Given the description of an element on the screen output the (x, y) to click on. 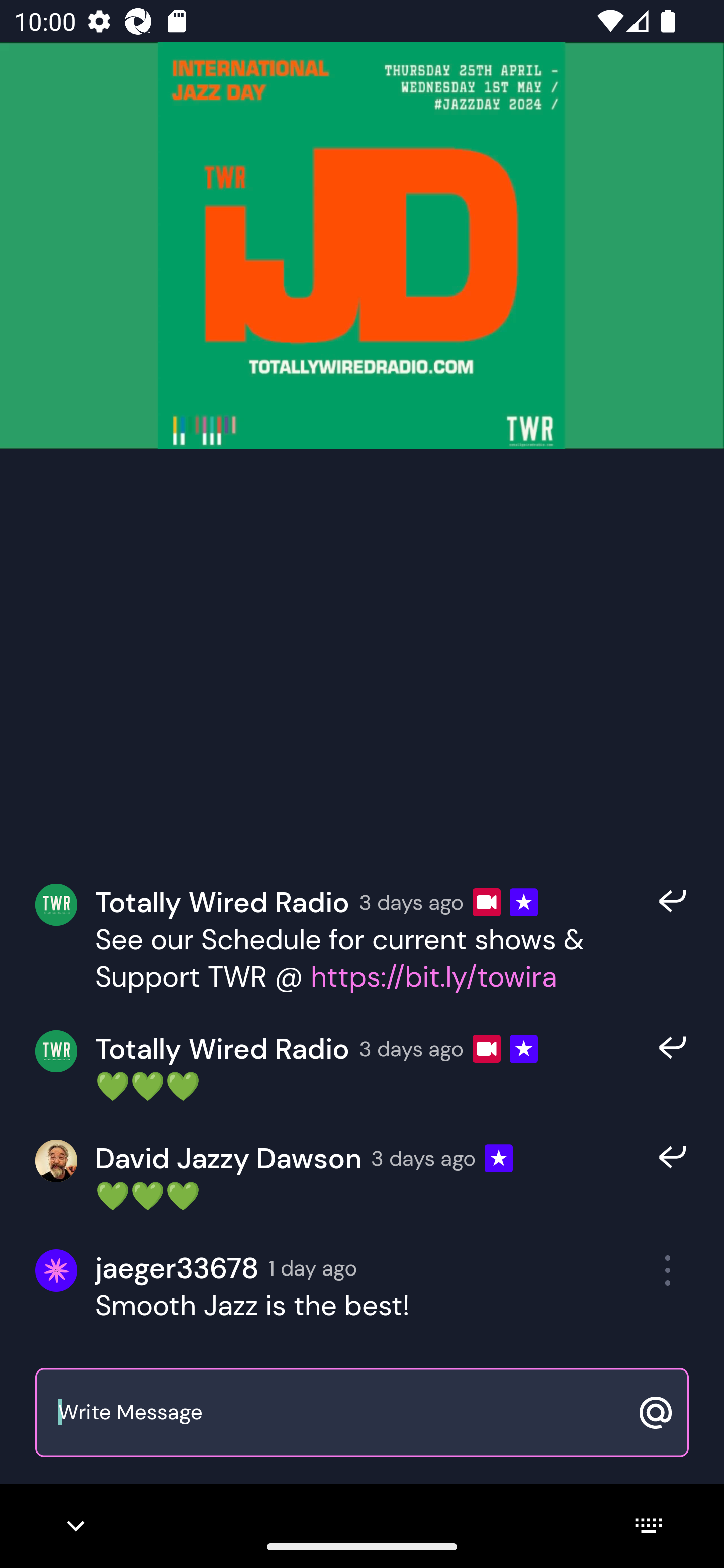
Totally Wired Radio (221, 901)
Totally Wired Radio (221, 1048)
David Jazzy Dawson (228, 1158)
jaeger33678 (176, 1268)
Write Message (340, 1413)
